Given the description of an element on the screen output the (x, y) to click on. 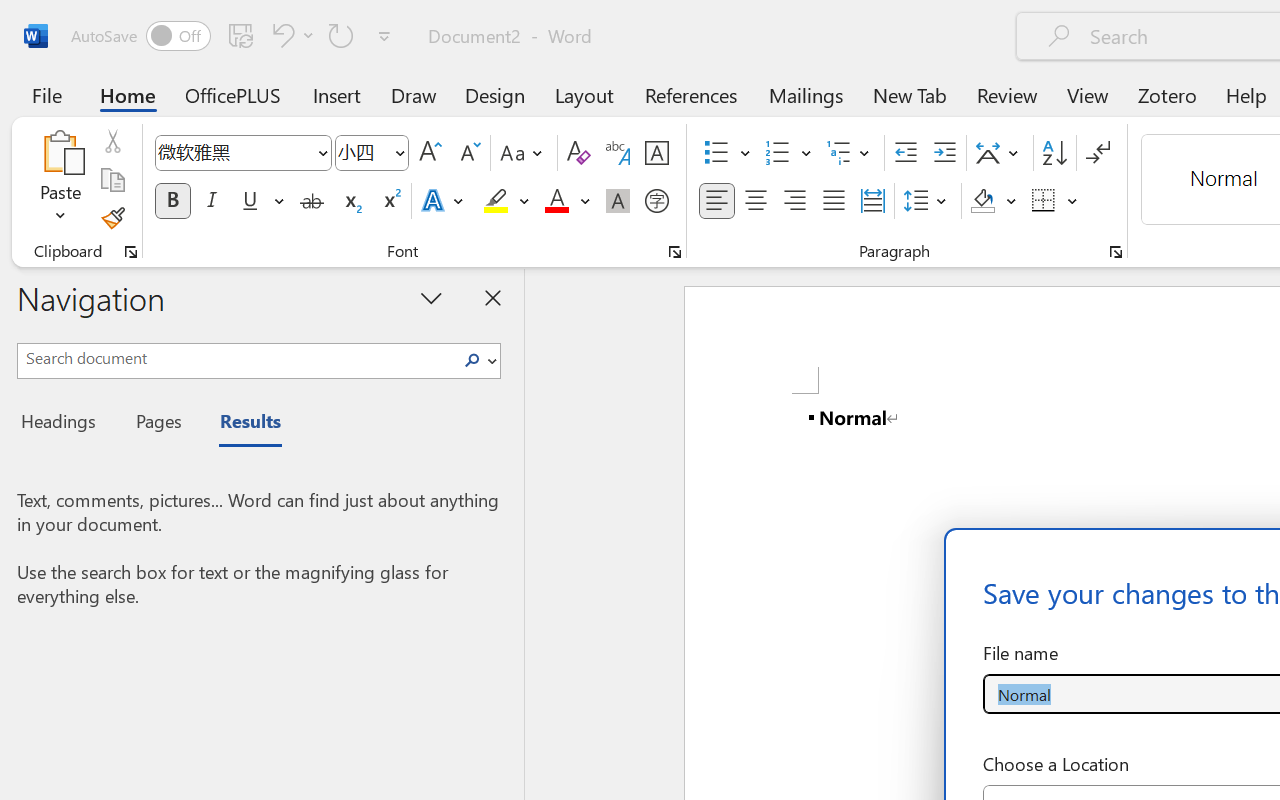
Grow Font (430, 153)
Shading RGB(0, 0, 0) (982, 201)
Task Pane Options (431, 297)
Align Right (794, 201)
New Tab (909, 94)
Phonetic Guide... (618, 153)
Zotero (1166, 94)
Repeat Style (341, 35)
Cut (112, 141)
Shrink Font (468, 153)
Borders (1044, 201)
File Tab (46, 94)
Numbering (788, 153)
Design (495, 94)
Enclose Characters... (656, 201)
